Given the description of an element on the screen output the (x, y) to click on. 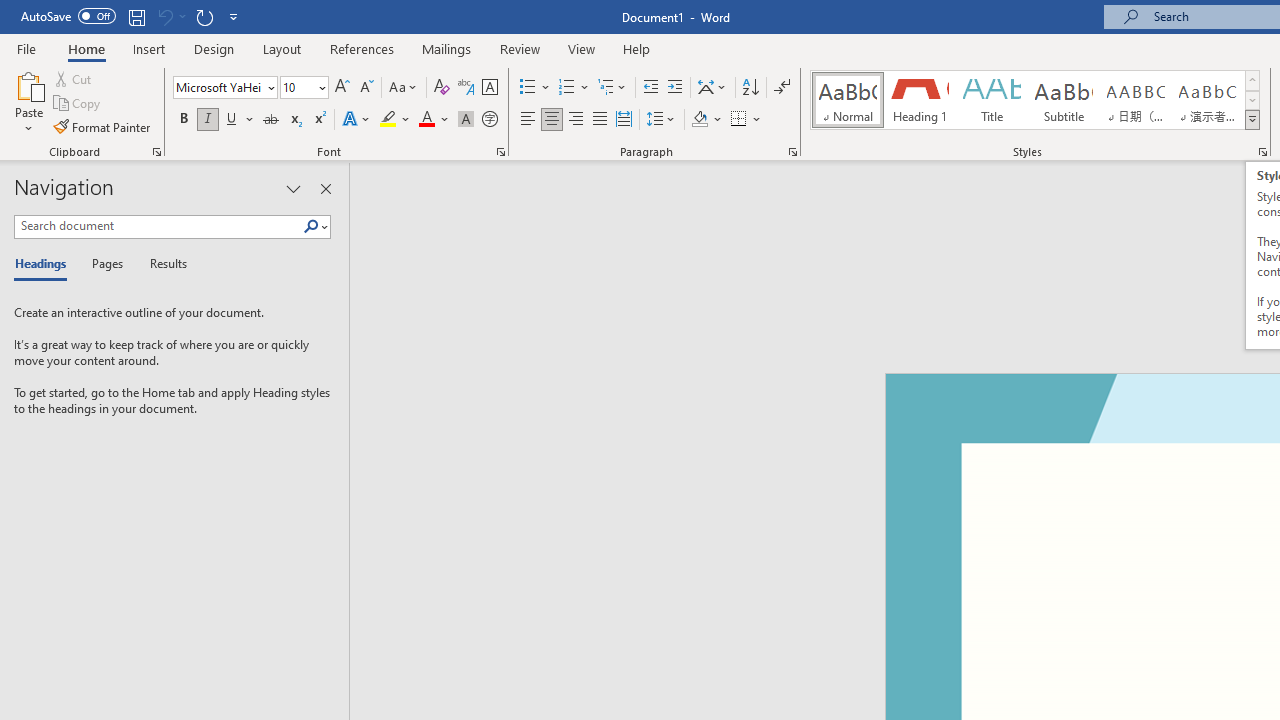
Justify (599, 119)
Text Highlight Color Yellow (388, 119)
